Given the description of an element on the screen output the (x, y) to click on. 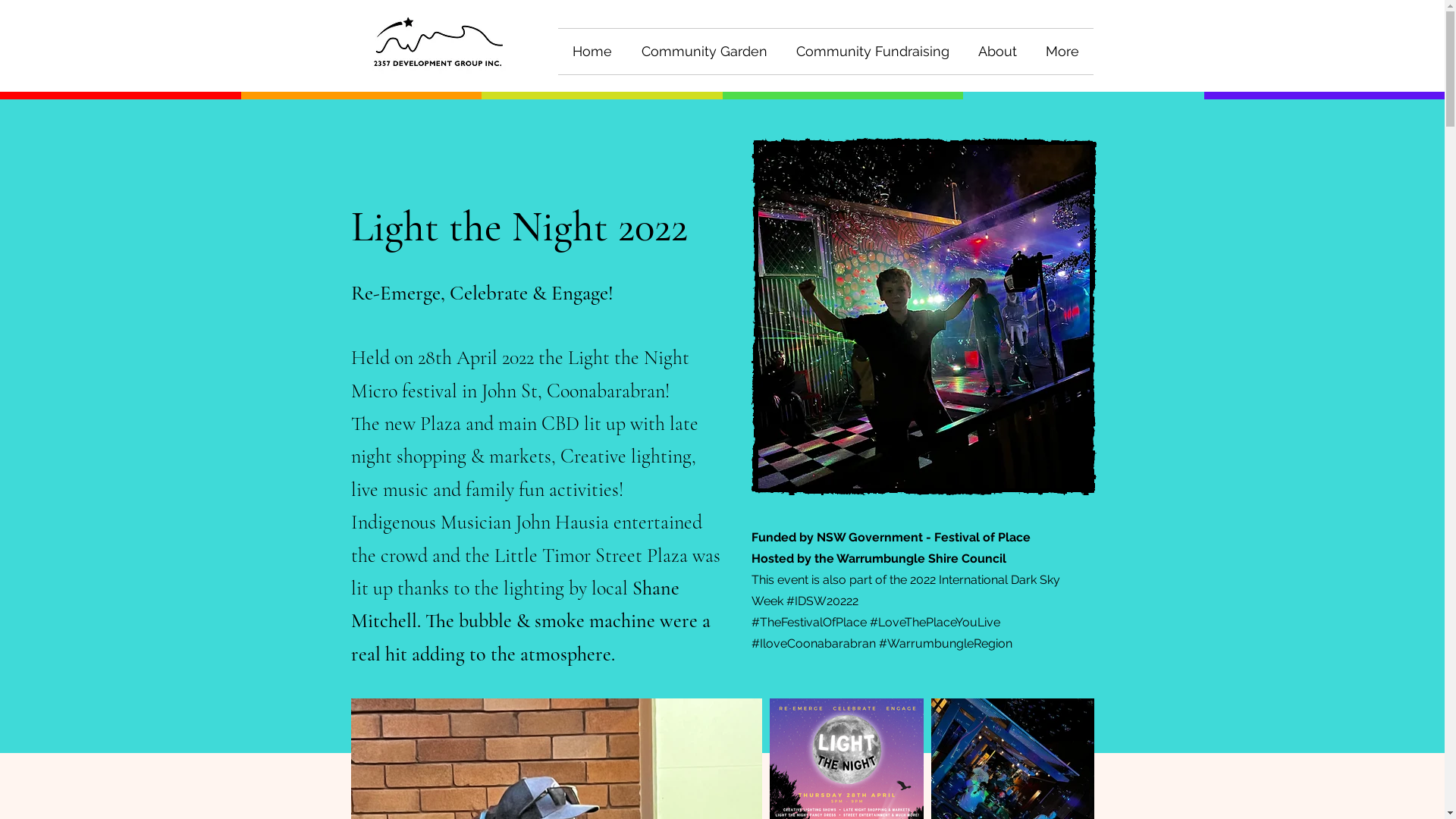
Community Garden Element type: text (703, 51)
Home Element type: text (592, 51)
Embedded Content Element type: hover (722, 95)
Community Fundraising Element type: text (872, 51)
About Element type: text (996, 51)
